Given the description of an element on the screen output the (x, y) to click on. 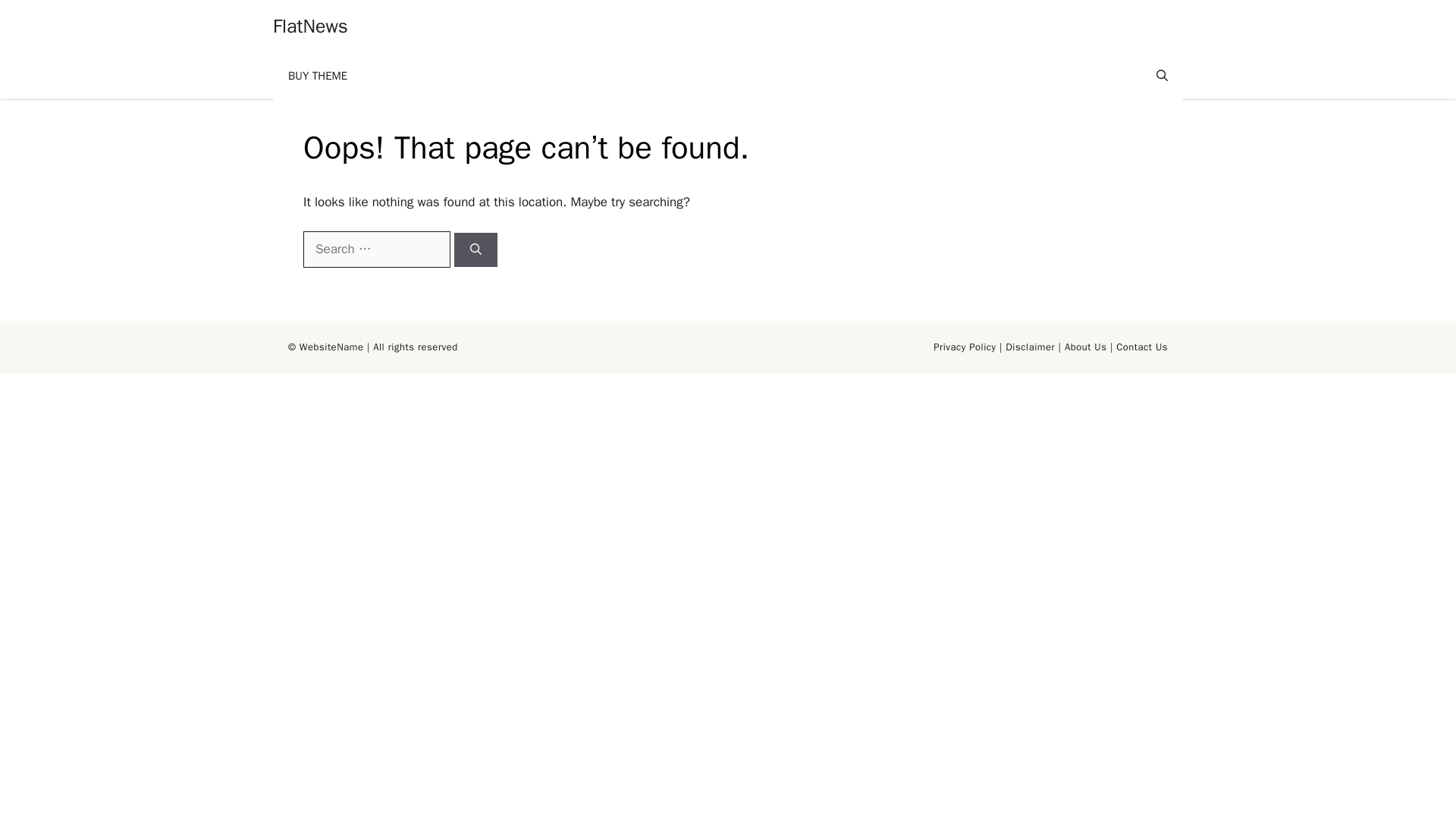
About Us (1085, 346)
Search for: (375, 248)
FlatNews (310, 25)
Contact Us (1141, 346)
BUY THEME (317, 75)
Disclaimer (1030, 346)
Privacy Policy (964, 346)
